Given the description of an element on the screen output the (x, y) to click on. 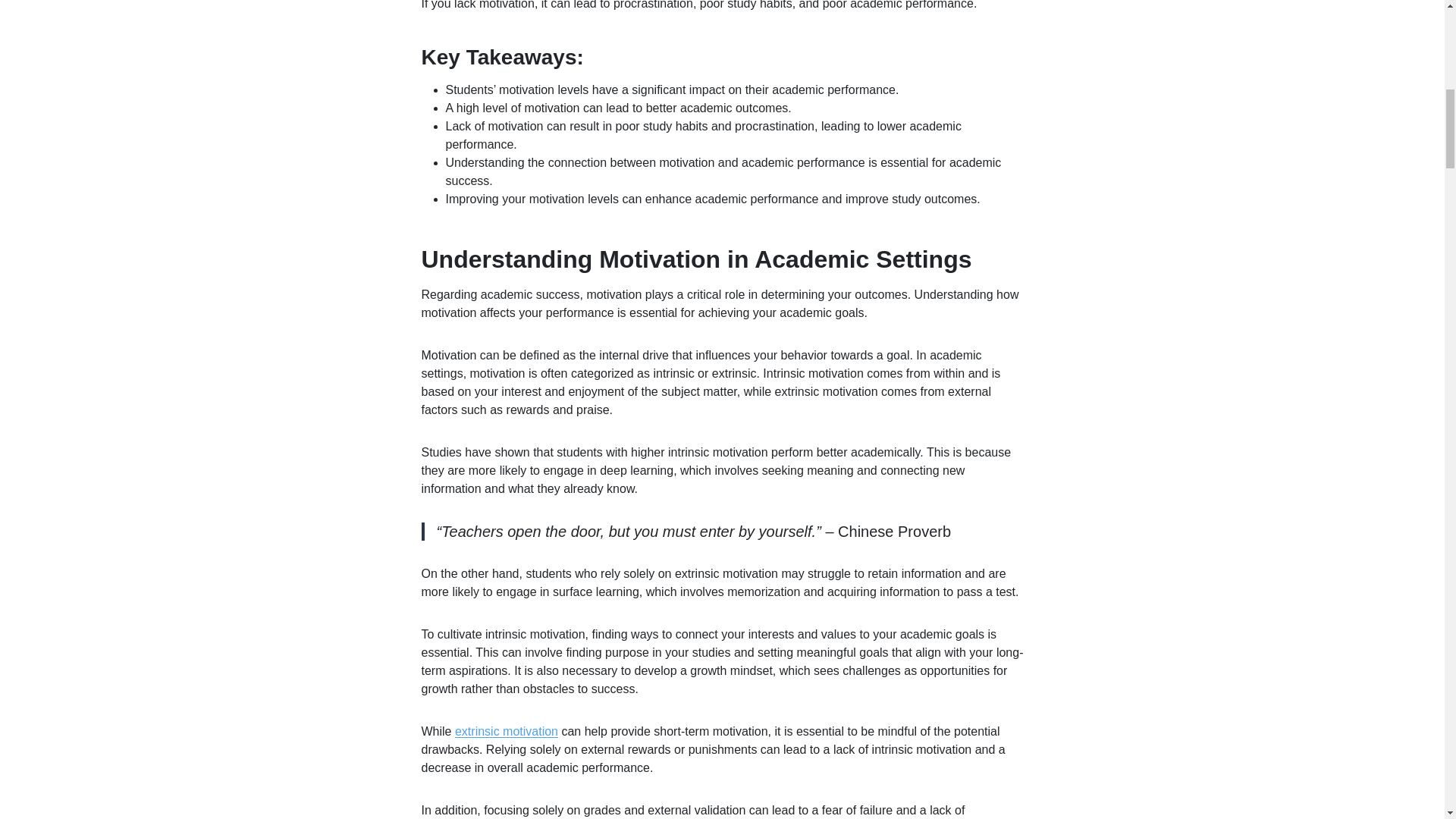
extrinsic motivation (505, 730)
